Given the description of an element on the screen output the (x, y) to click on. 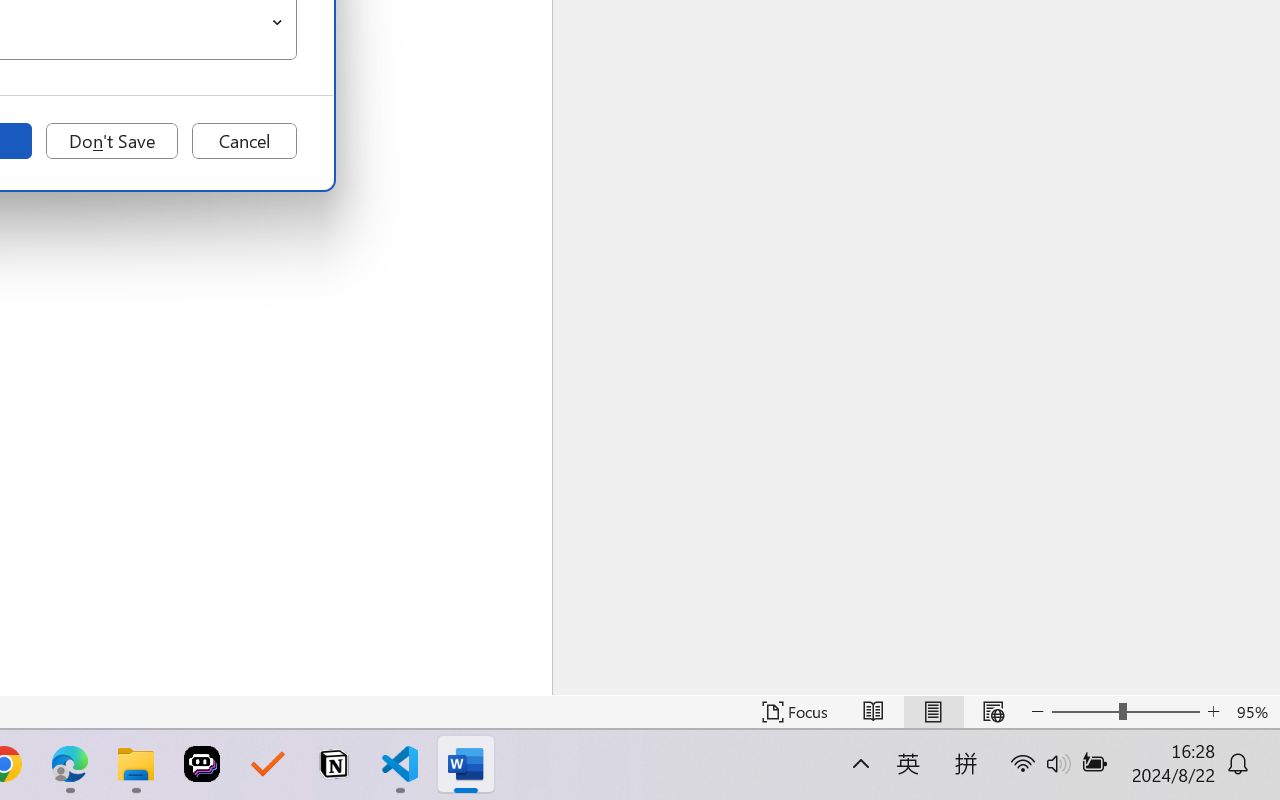
Don't Save (111, 141)
Poe (201, 764)
Cancel (244, 141)
